Given the description of an element on the screen output the (x, y) to click on. 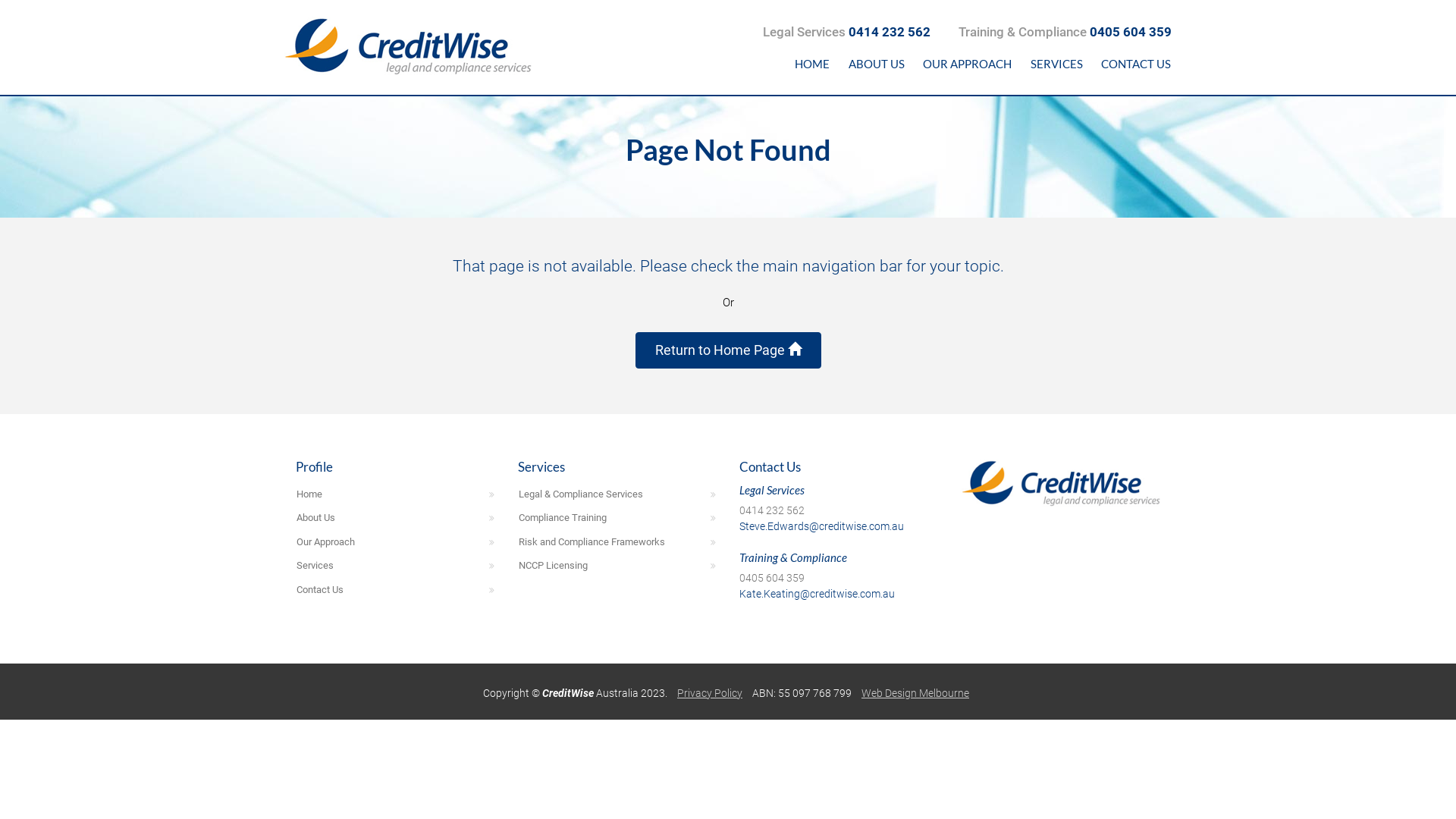
About Us Element type: text (395, 517)
Kate.Keating@creditwise.com.au Element type: text (816, 593)
HOME Element type: text (812, 64)
Privacy Policy Element type: text (709, 693)
Return to Home Page Element type: text (728, 350)
Our Approach Element type: text (395, 541)
0414 232 562 Element type: text (889, 32)
Web Design Melbourne Element type: text (915, 693)
CONTACT US Element type: text (1136, 64)
Legal & Compliance Services Element type: text (616, 494)
Home Element type: text (395, 494)
Risk and Compliance Frameworks Element type: text (616, 541)
OUR APPROACH Element type: text (967, 64)
ABOUT US Element type: text (875, 64)
NCCP Licensing Element type: text (616, 565)
Compliance Training Element type: text (616, 517)
Services Element type: text (395, 565)
0405 604 359 Element type: text (1130, 32)
Contact Us Element type: text (395, 589)
SERVICES Element type: text (1056, 64)
Steve.Edwards@creditwise.com.au Element type: text (821, 526)
0414 232 562 Element type: text (771, 510)
0405 604 359 Element type: text (771, 577)
